Given the description of an element on the screen output the (x, y) to click on. 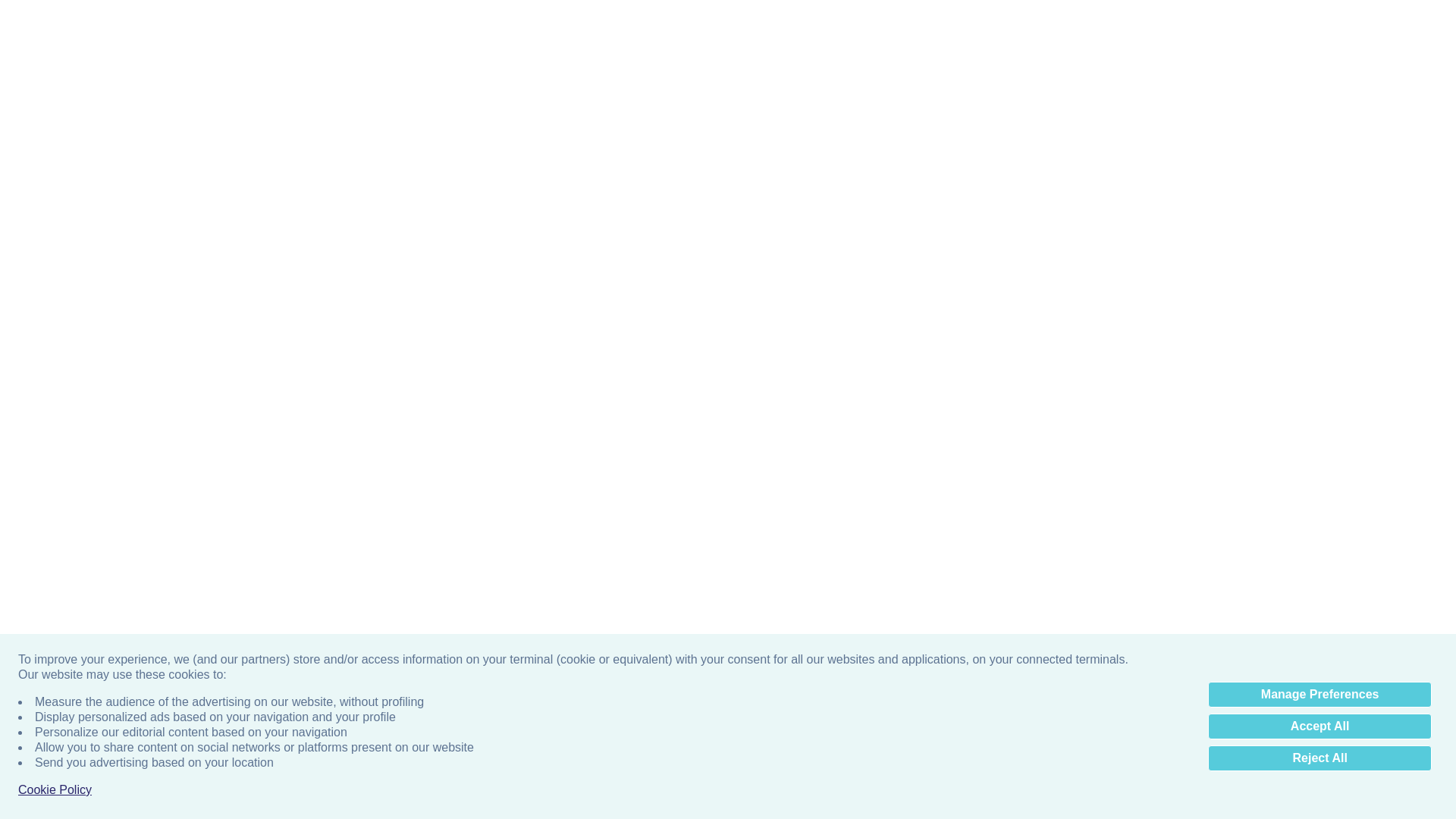
Reject All (1319, 375)
Manage Preferences (1319, 311)
Cookie Policy (54, 406)
3rd party ad content (727, 37)
Accept All (1319, 343)
